Given the description of an element on the screen output the (x, y) to click on. 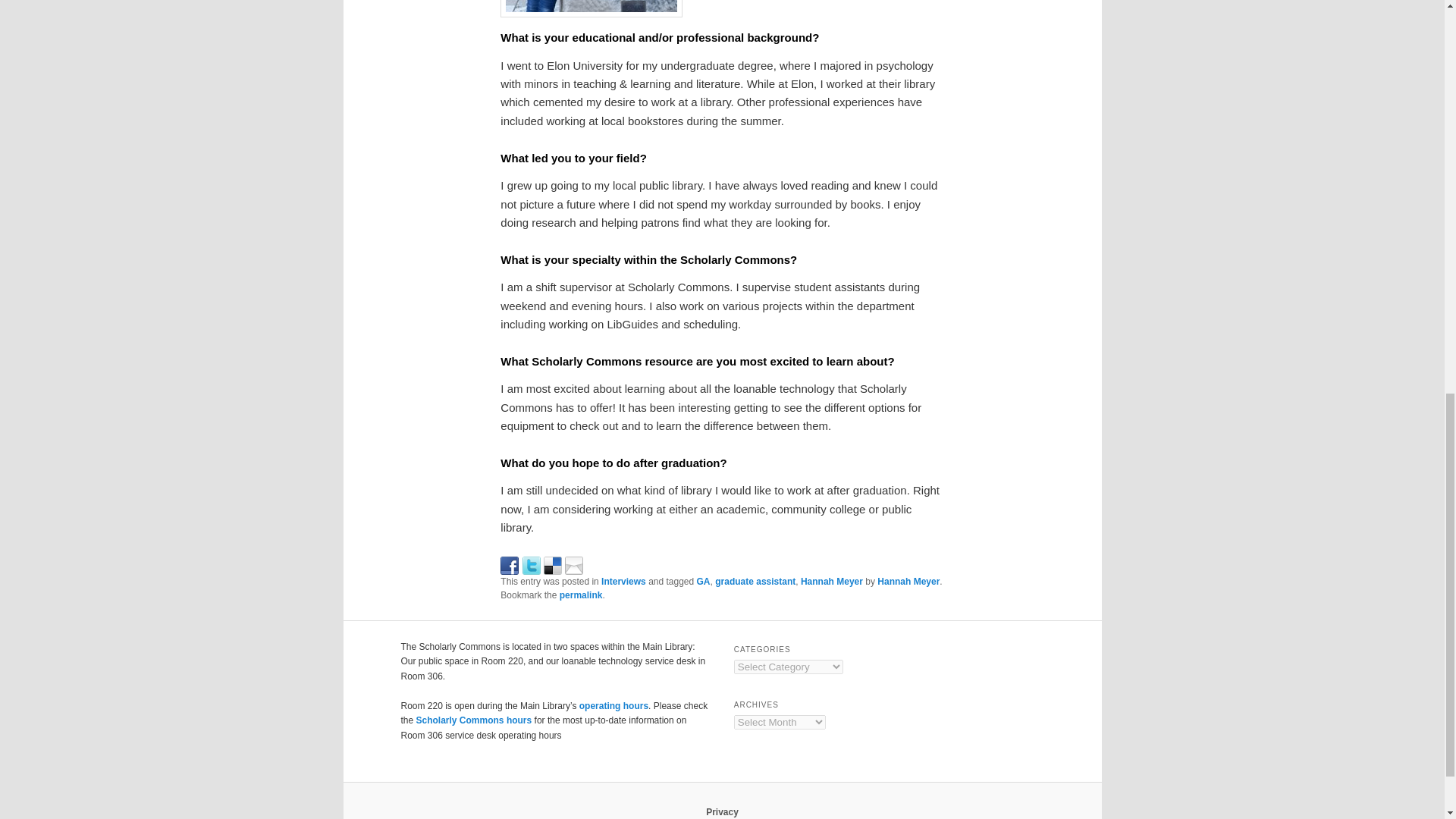
Delicious (552, 563)
GA (703, 581)
Twitter (531, 563)
Hannah Meyer (908, 581)
Email (573, 563)
Facebook (509, 563)
Hannah Meyer (831, 581)
Scholarly Commons hours (474, 719)
Interviews (623, 581)
Permalink to Meet Our Graduate Assistants: Hannah Meyer (580, 594)
